Given the description of an element on the screen output the (x, y) to click on. 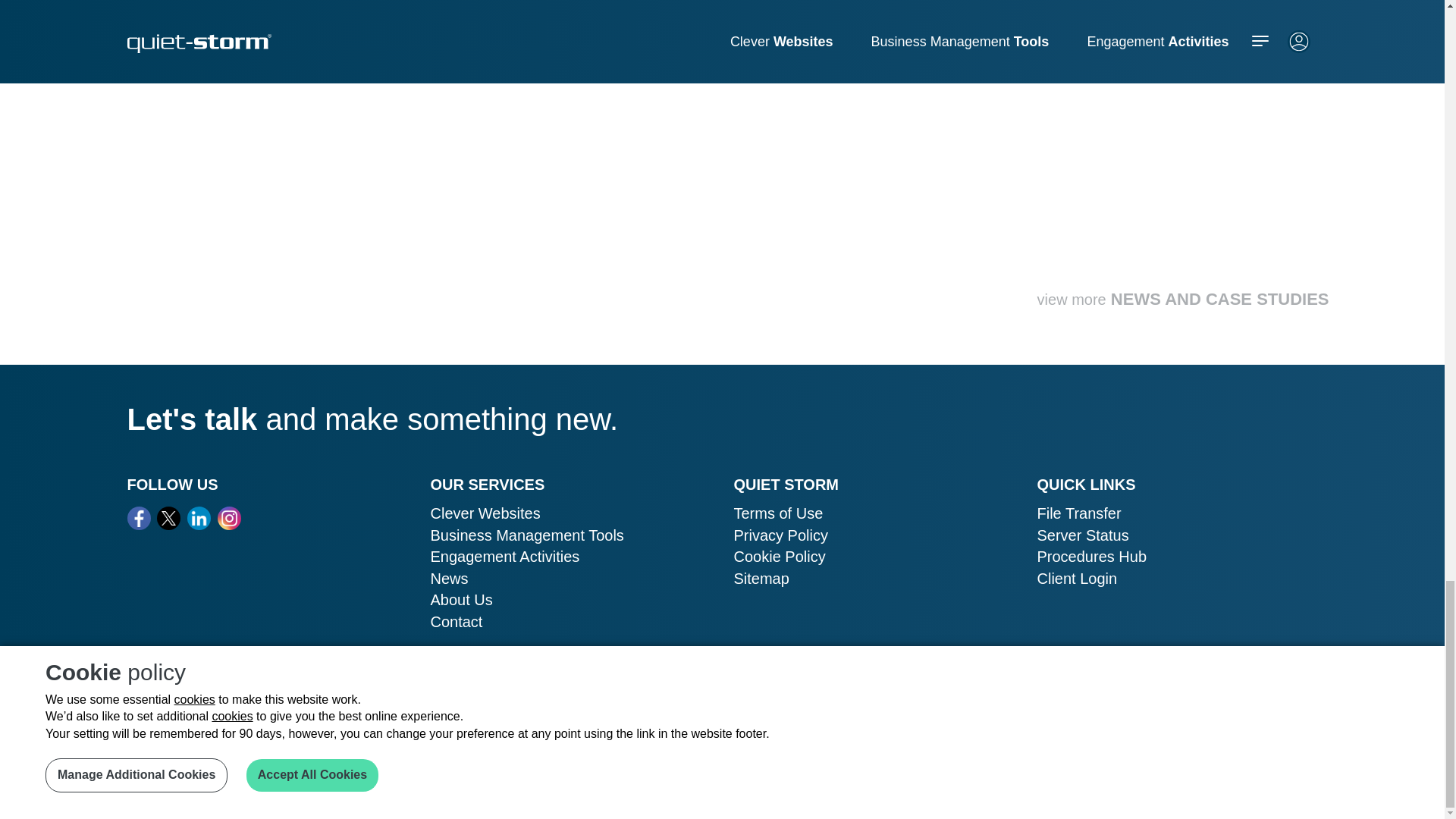
LinkedIn (199, 517)
Instagram (228, 517)
Facebook (139, 517)
